Given the description of an element on the screen output the (x, y) to click on. 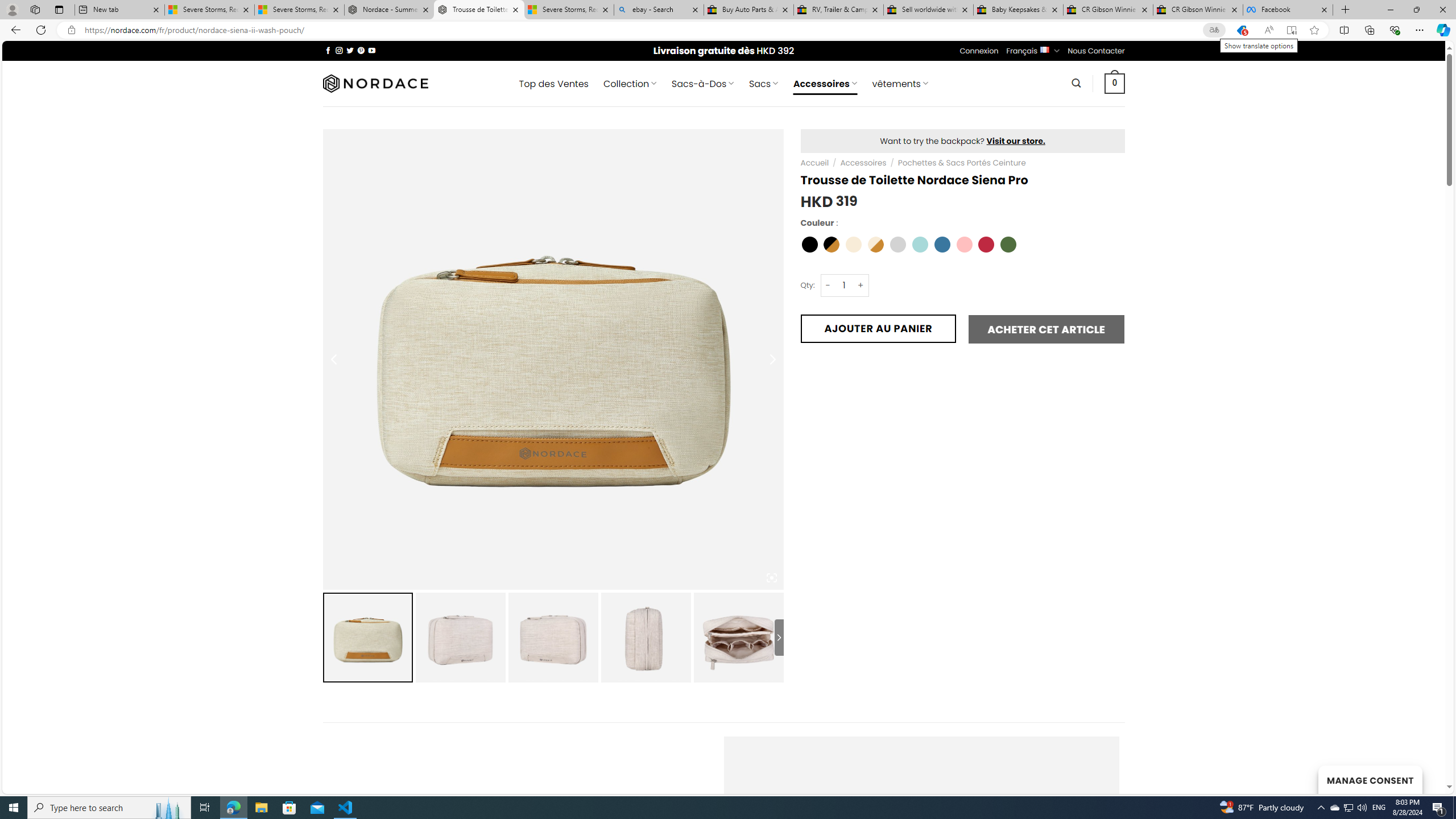
Buy Auto Parts & Accessories | eBay (747, 9)
Connexion (978, 50)
Baby Keepsakes & Announcements for sale | eBay (1018, 9)
